Given the description of an element on the screen output the (x, y) to click on. 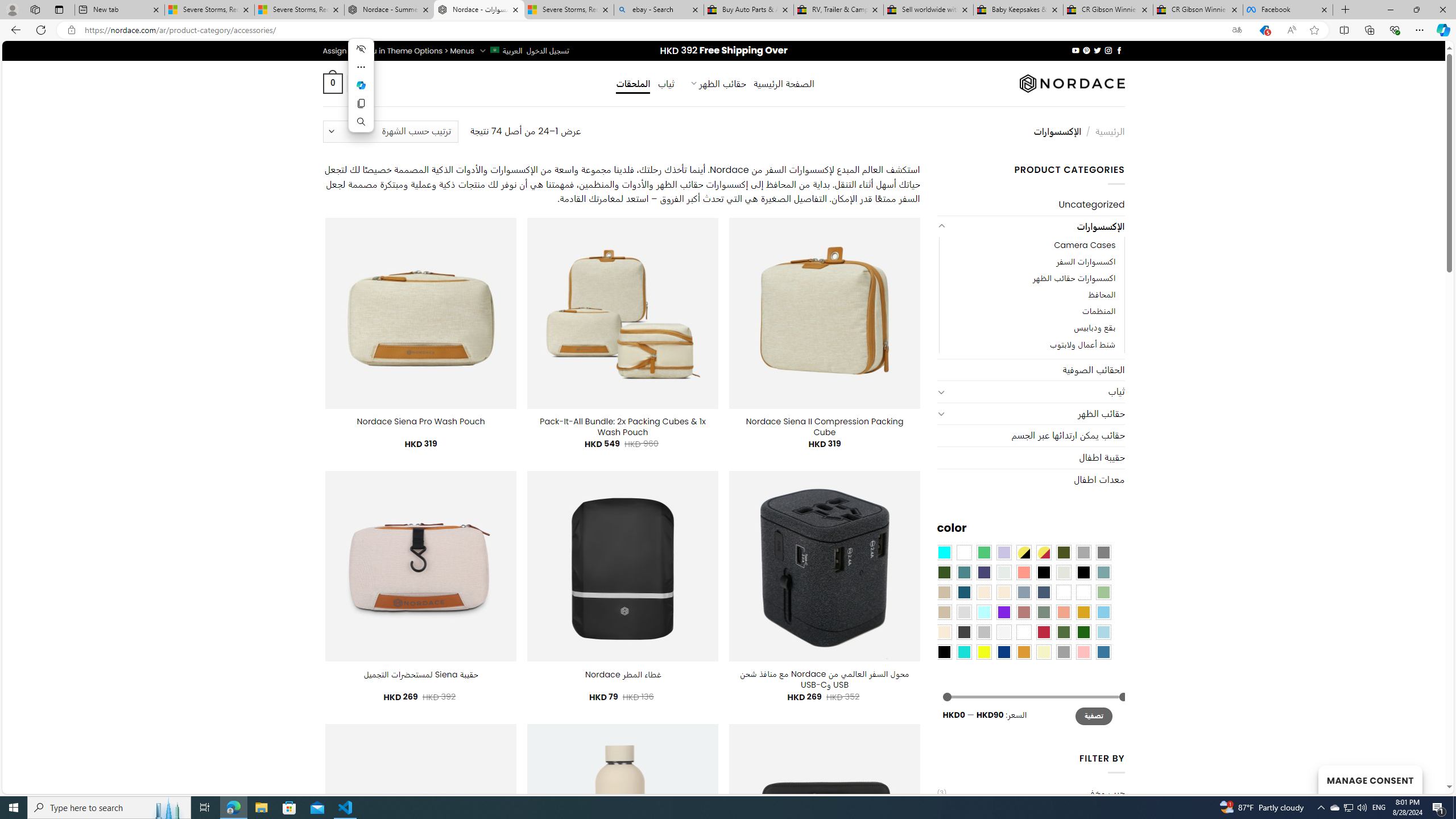
Yellow-Red (1043, 551)
Read aloud this page (Ctrl+Shift+U) (1291, 29)
Camera Cases (1031, 245)
Personal Profile (12, 9)
Cream (1003, 591)
Restore (1416, 9)
Copilot (Ctrl+Shift+.) (1442, 29)
Purple (1003, 611)
Caramel (983, 591)
Browser essentials (1394, 29)
